Given the description of an element on the screen output the (x, y) to click on. 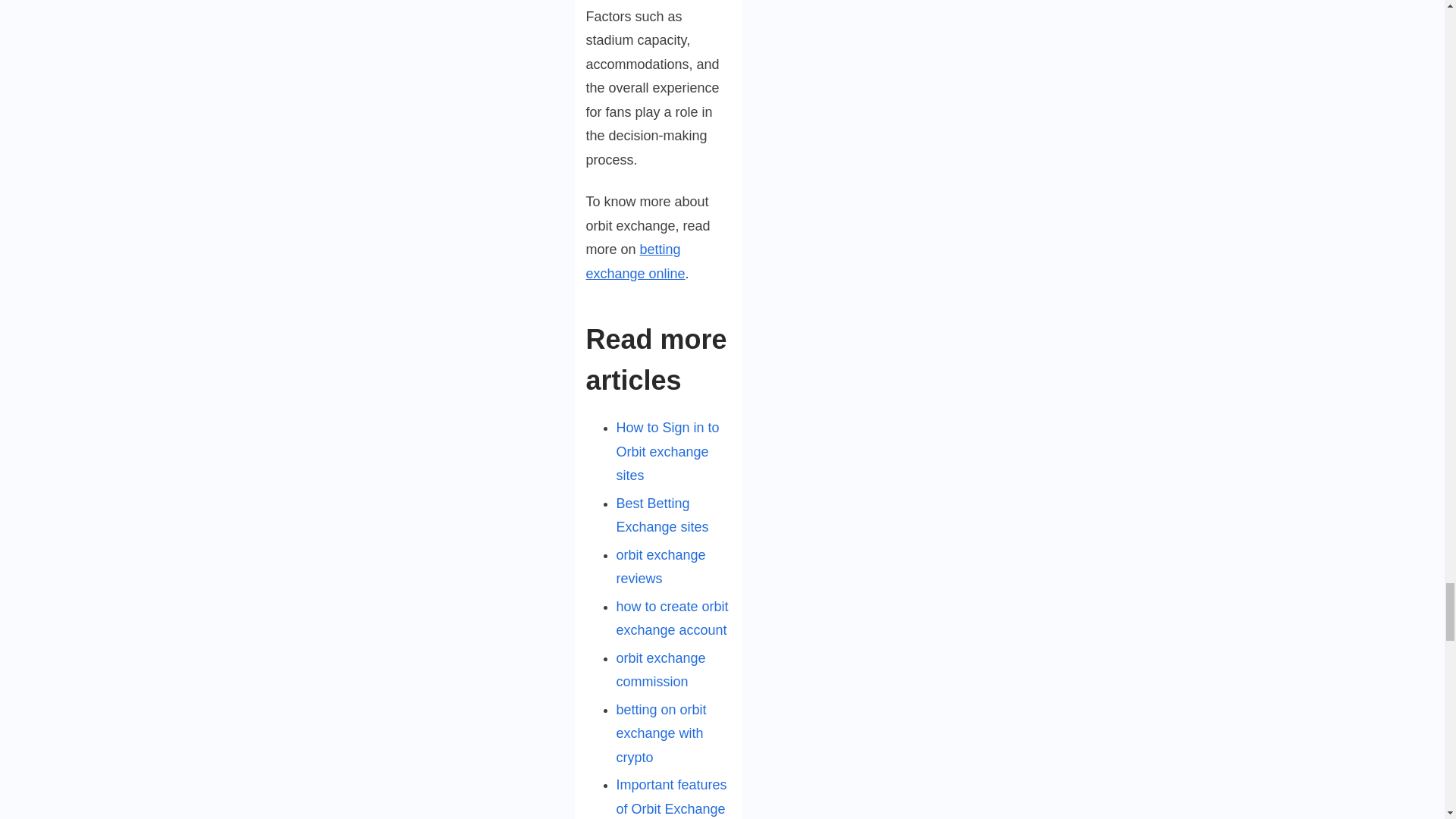
orbit exchange reviews (659, 567)
Best Betting Exchange sites (661, 515)
How to Sign in to Orbit exchange sites (667, 451)
how to create orbit exchange account (671, 618)
orbit exchange commission (659, 670)
betting exchange online (634, 261)
